Given the description of an element on the screen output the (x, y) to click on. 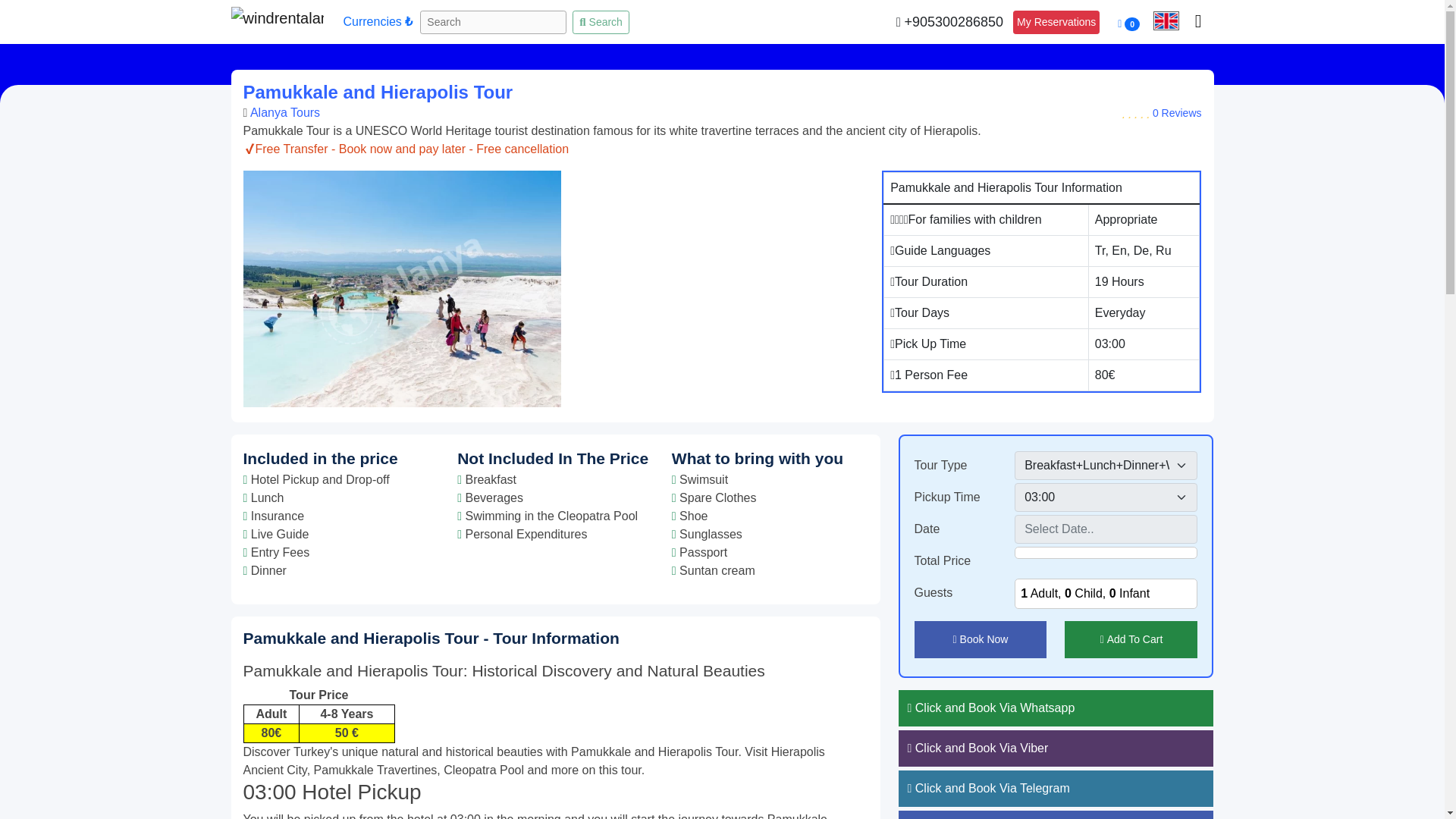
My Reservations (1056, 22)
Wind Rent Alanya (276, 21)
0 (1128, 23)
Currency (377, 22)
Search (600, 22)
